Given the description of an element on the screen output the (x, y) to click on. 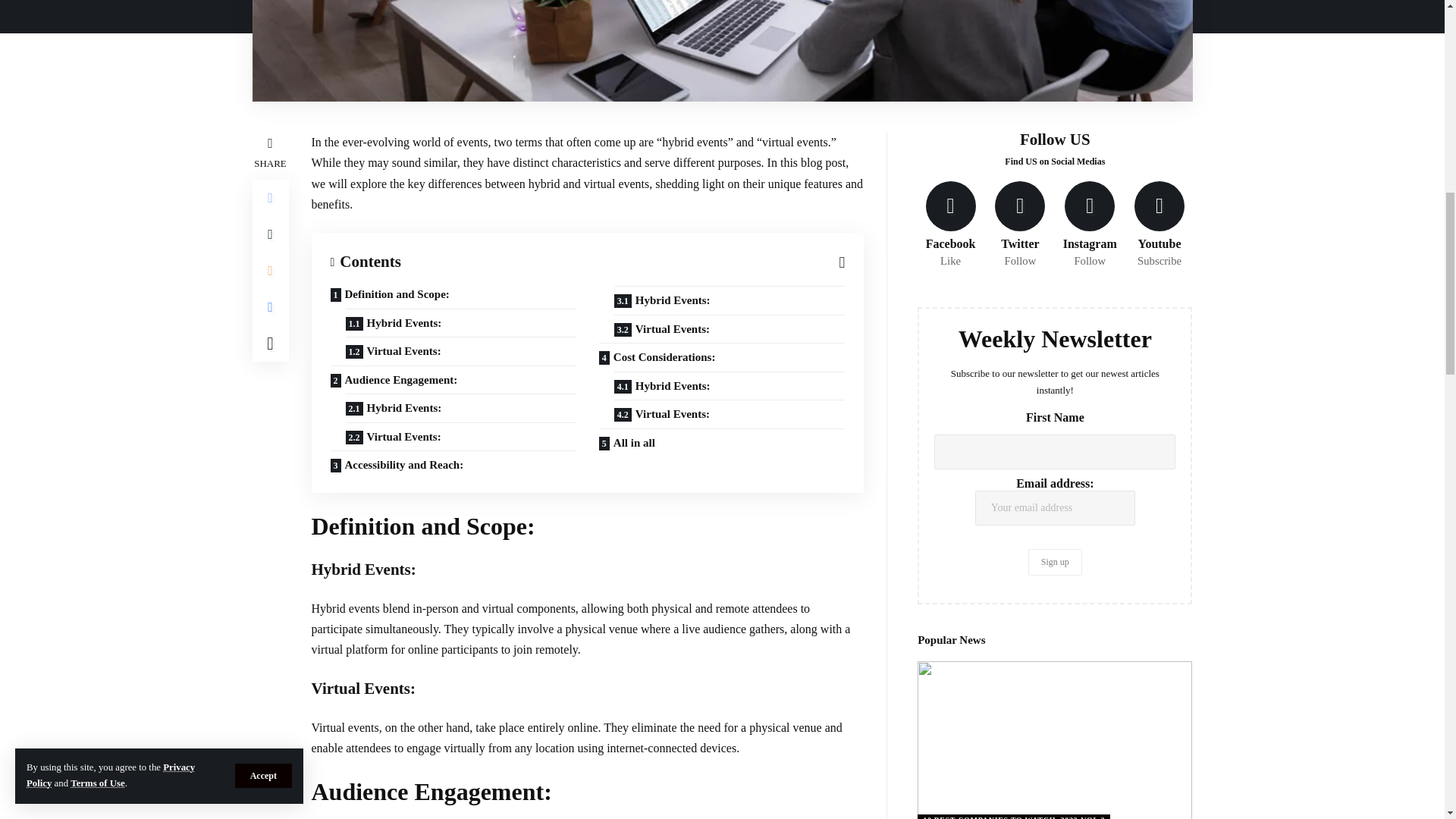
Sign up (1054, 561)
